Given the description of an element on the screen output the (x, y) to click on. 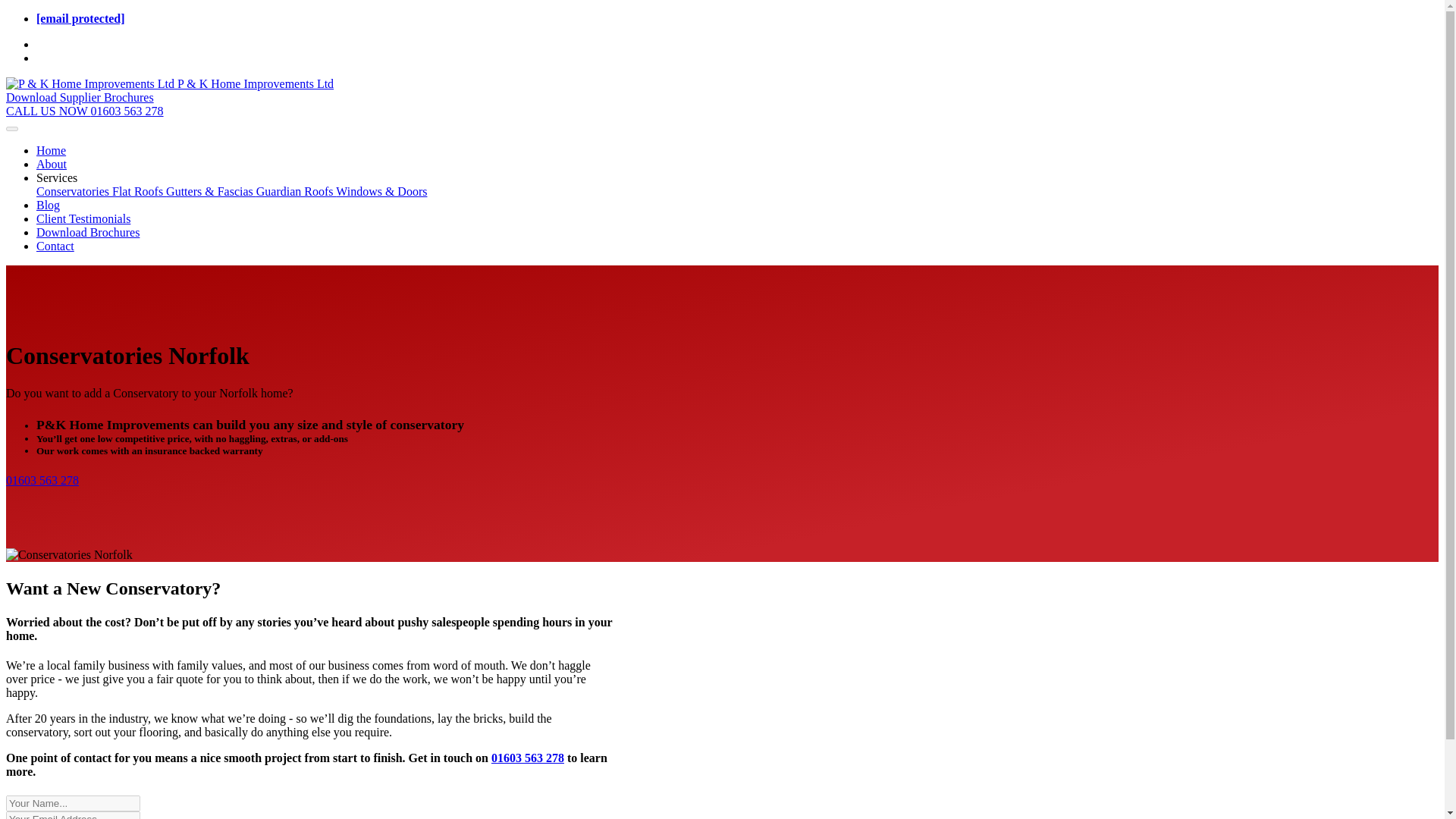
Link to Blog (47, 205)
Guardian Roofs (296, 191)
Client Testimonials (83, 218)
01603 563 278 (41, 480)
Call Us (528, 757)
Conservatories (74, 191)
Link to Guardian Roofs (296, 191)
CALL US NOW 01603 563 278 (84, 110)
Contact (55, 245)
Link to Contact (55, 245)
Link to Download Brochures (87, 232)
Link to Client Testimonials (83, 218)
Blog (47, 205)
About (51, 164)
Home (50, 150)
